Given the description of an element on the screen output the (x, y) to click on. 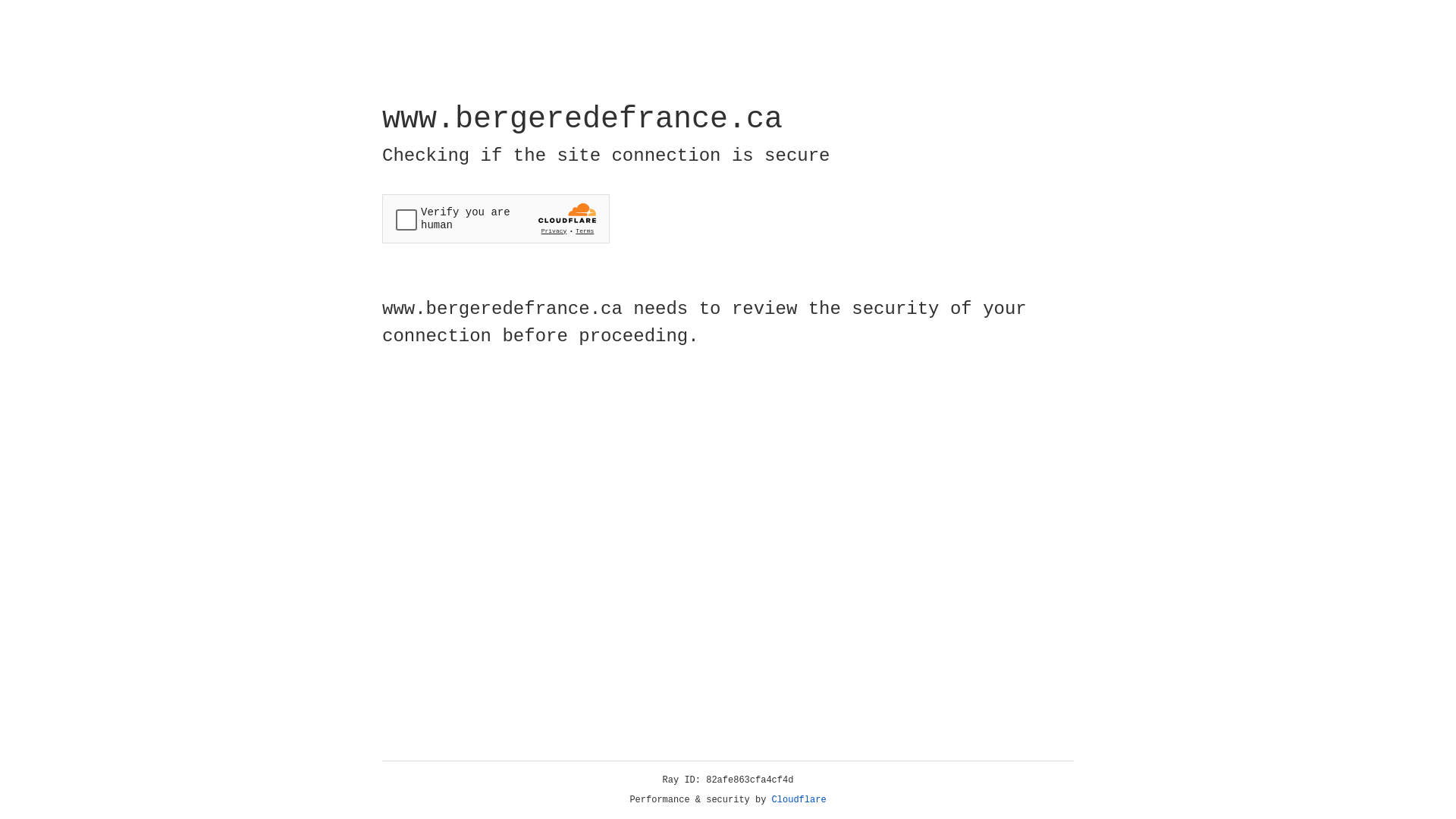
Widget containing a Cloudflare security challenge Element type: hover (495, 218)
Cloudflare Element type: text (798, 799)
